Given the description of an element on the screen output the (x, y) to click on. 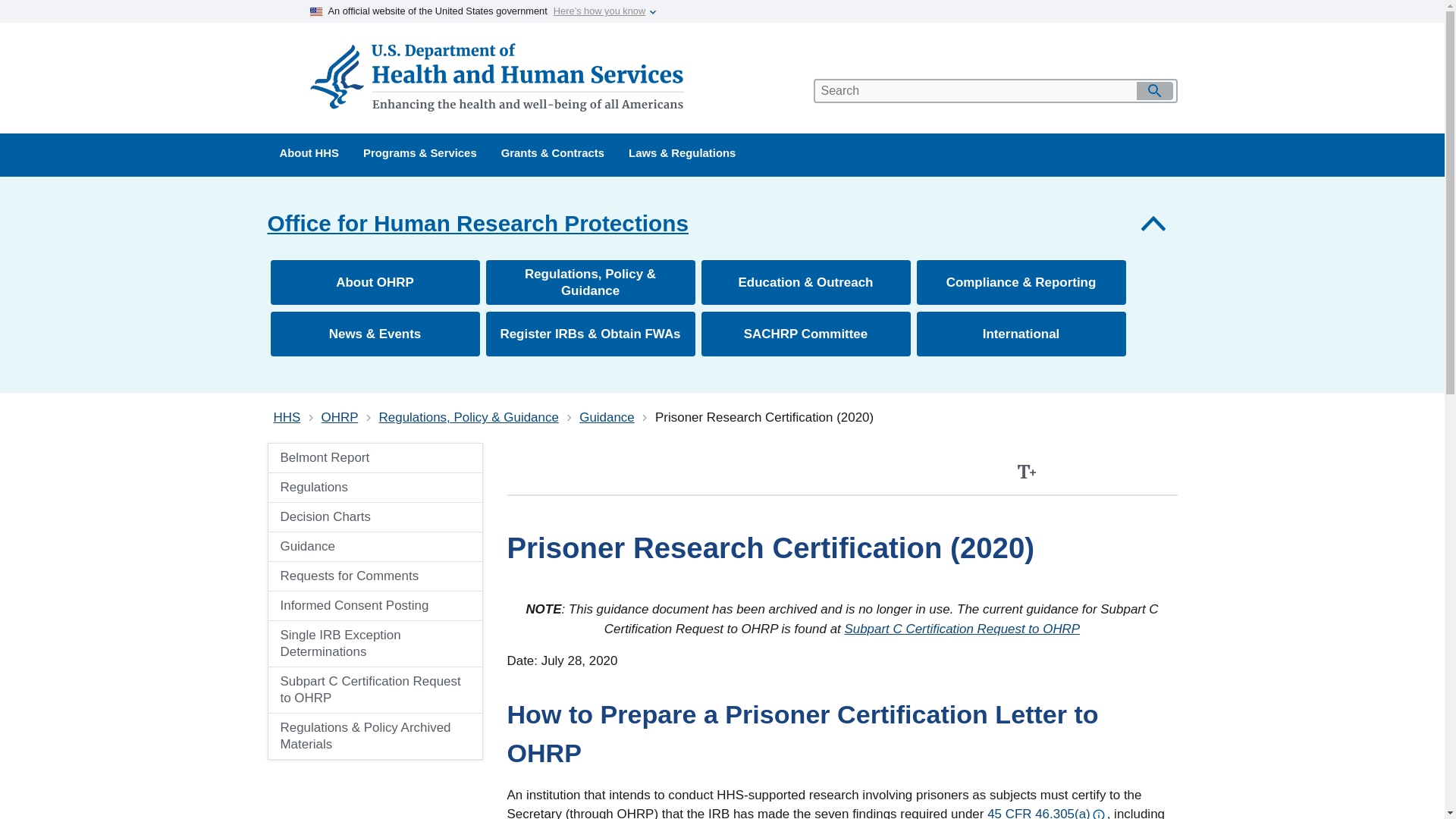
HHS (286, 417)
Office for Human Research Protections (721, 223)
OHRP (339, 417)
Guidance (606, 417)
X (1127, 471)
Search (1153, 90)
About OHRP (374, 281)
Regulations (357, 487)
About HHS (308, 154)
Email (1161, 471)
